Given the description of an element on the screen output the (x, y) to click on. 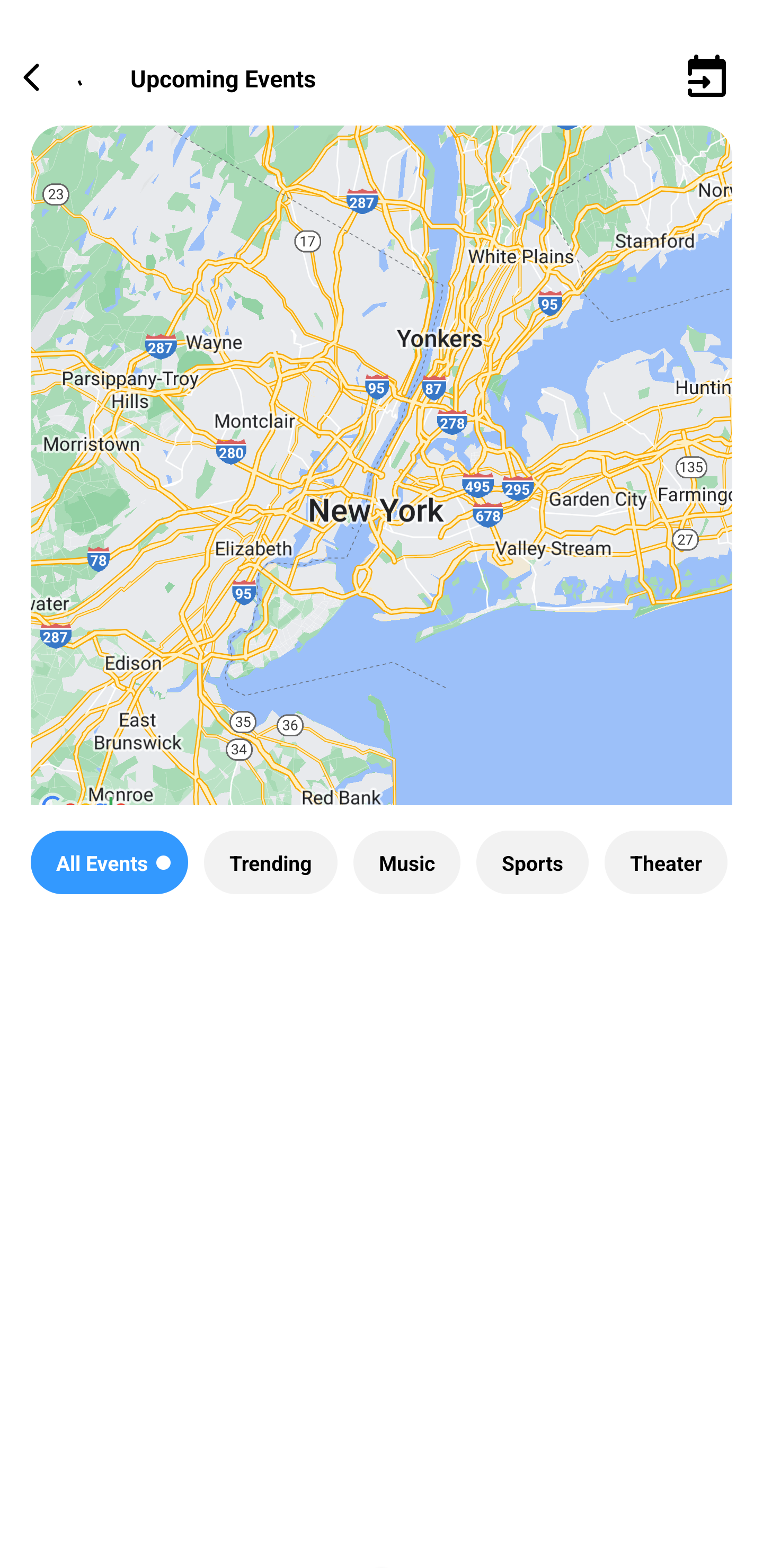
Google Map (381, 480)
All Events (109, 862)
Trending (270, 862)
Music (406, 862)
Sports (532, 862)
Theater (665, 862)
